Given the description of an element on the screen output the (x, y) to click on. 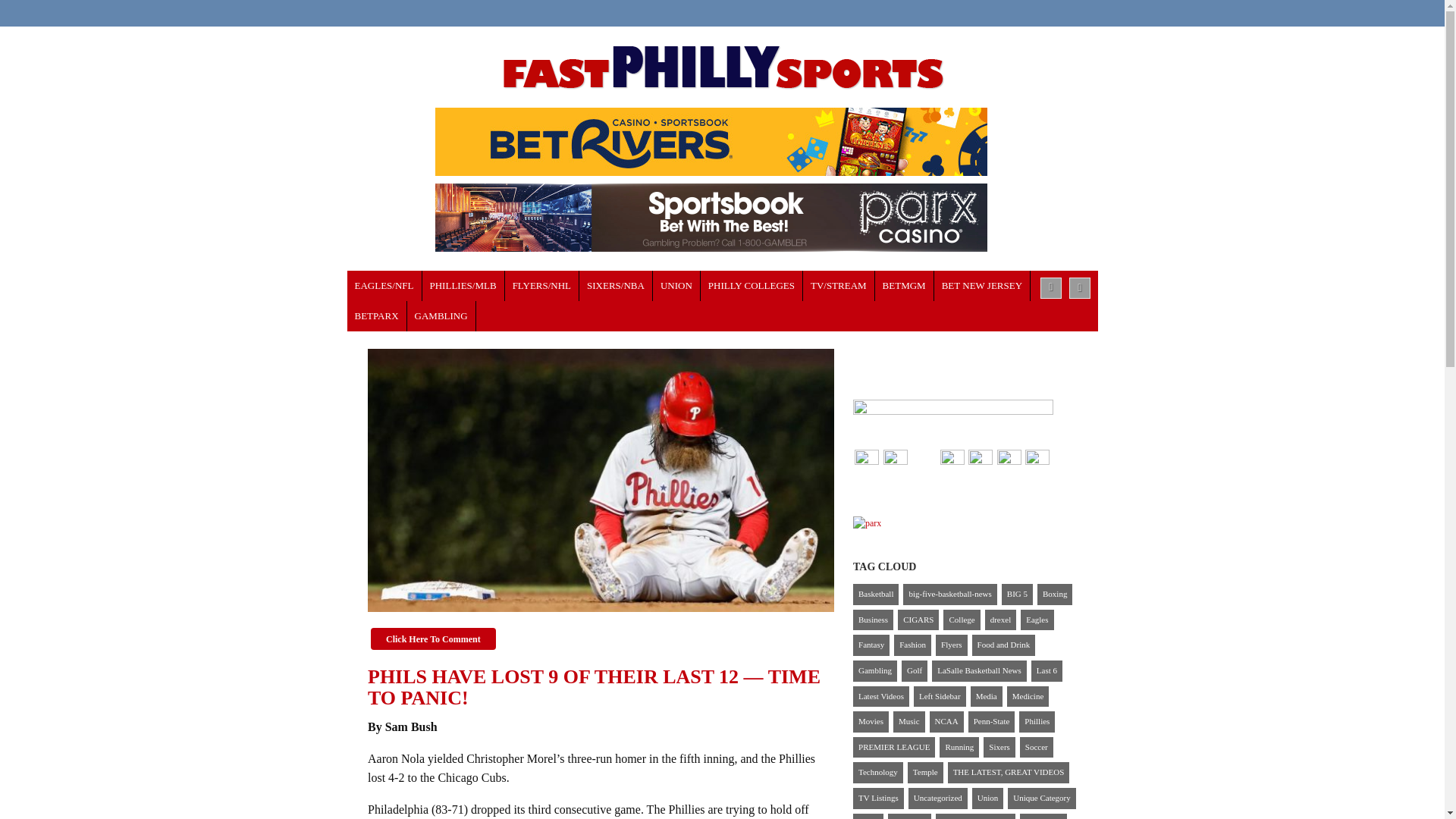
PHILLY COLLEGES (751, 286)
BETMGM (904, 286)
LA SALLE (751, 286)
GAMBLING (441, 316)
UNION (676, 286)
Click Here To Comment (433, 639)
BETPARX (377, 316)
BET NEW JERSEY (982, 286)
Random Article (1079, 287)
